Given the description of an element on the screen output the (x, y) to click on. 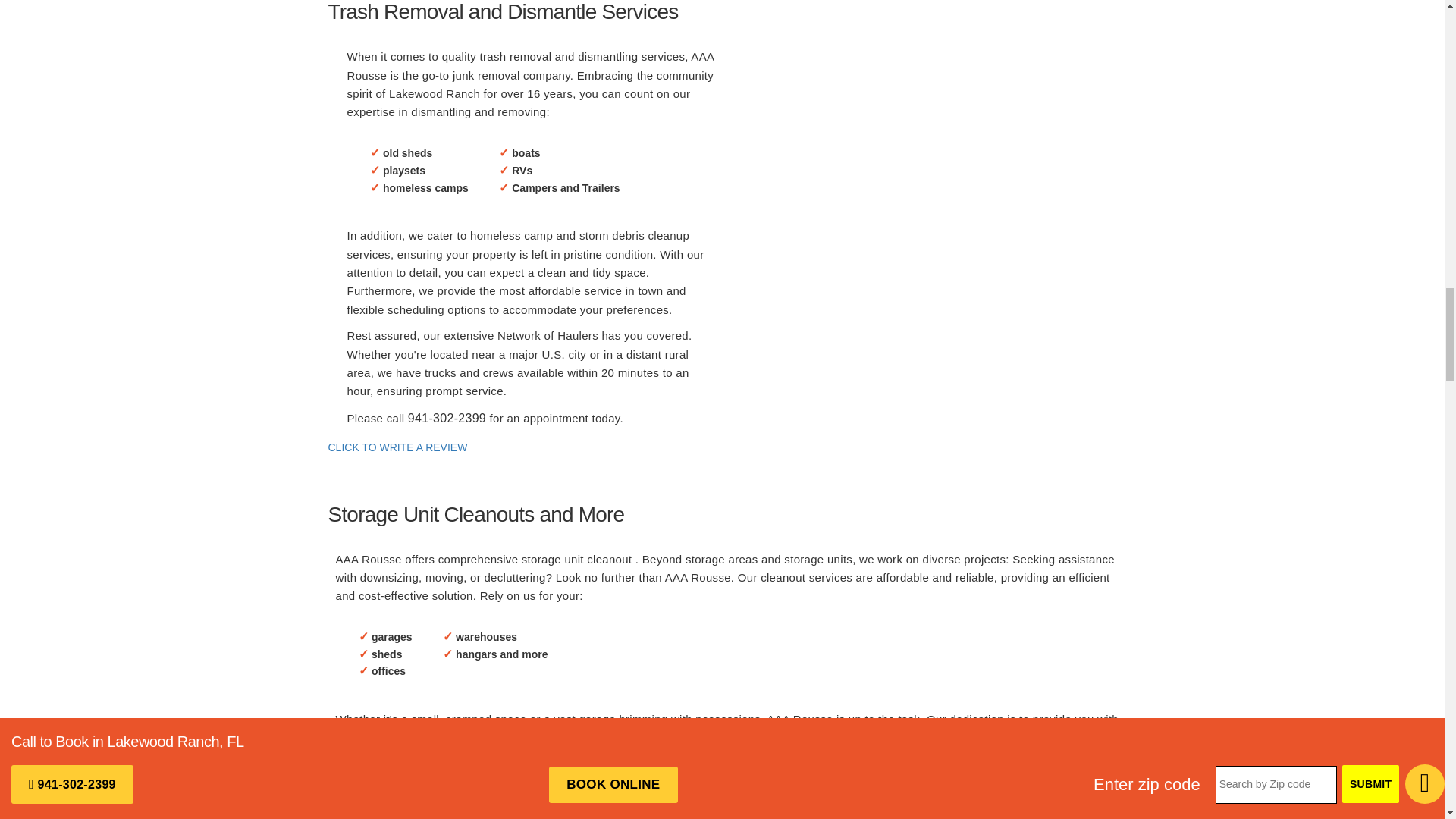
Garage cleanout service Lakewood Ranch (904, 137)
CLICK TO WRITE A REVIEW (397, 447)
Hoarder clean out service Lakewood Ranch FL (458, 790)
